Given the description of an element on the screen output the (x, y) to click on. 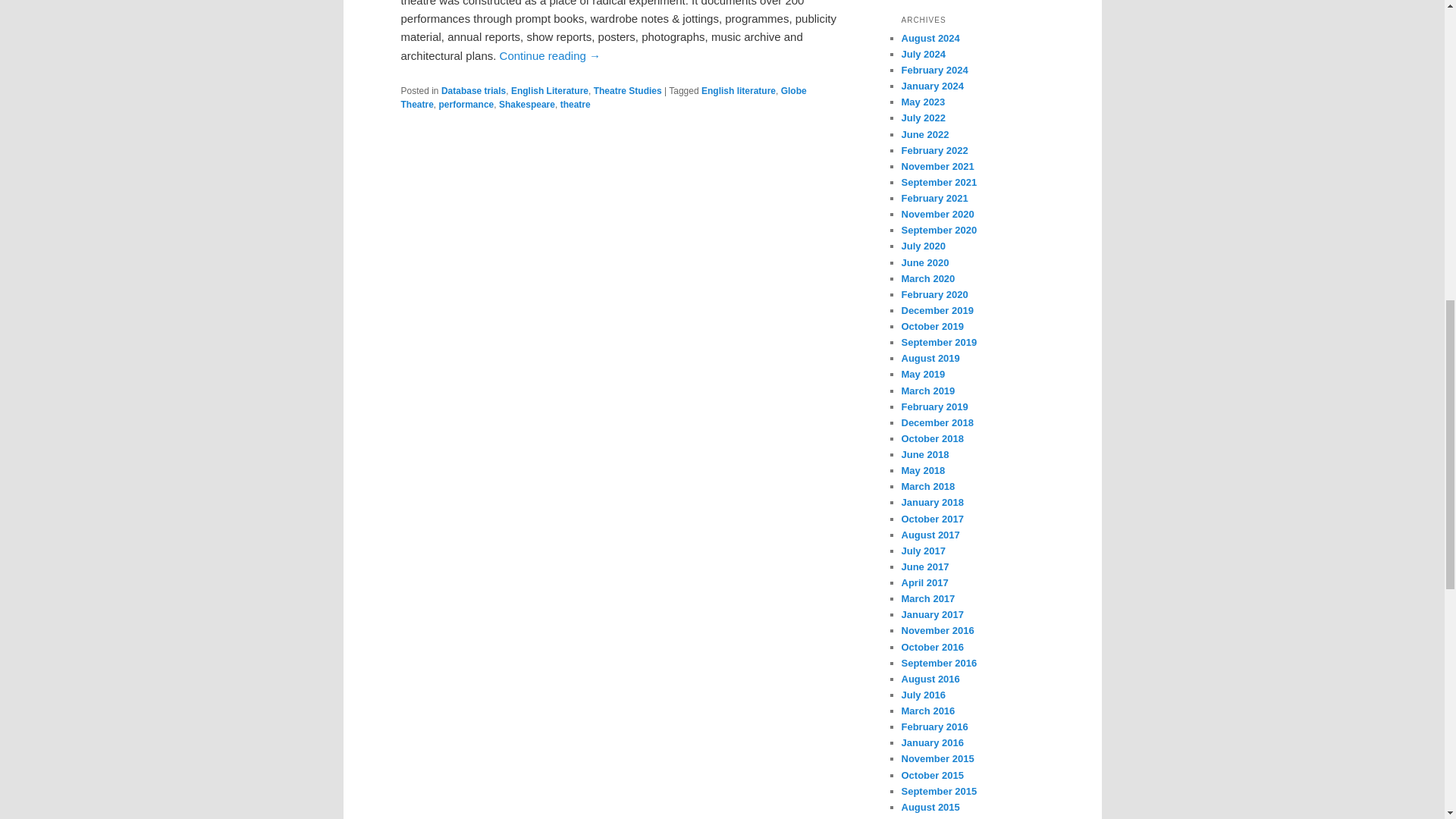
Database trials (473, 90)
November 2021 (937, 165)
August 2024 (930, 38)
Shakespeare (526, 104)
theatre (575, 104)
November 2020 (937, 214)
September 2020 (938, 229)
February 2022 (934, 150)
Globe Theatre (603, 97)
February 2021 (934, 197)
